Given the description of an element on the screen output the (x, y) to click on. 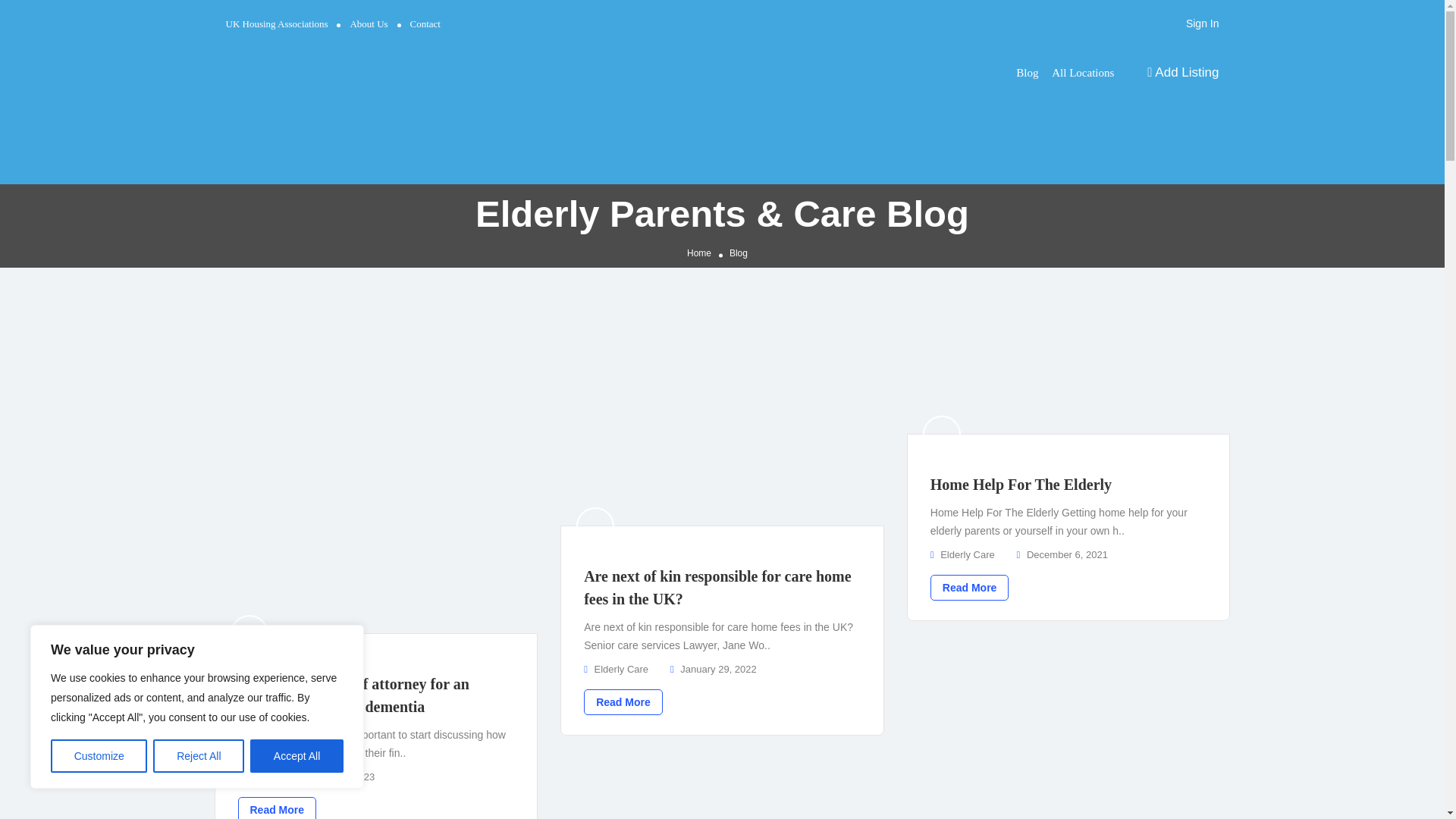
Reject All (198, 756)
Customize (98, 756)
Read More (277, 807)
Add Listing (1182, 72)
All Locations (1082, 72)
UK Housing Associations (277, 23)
Home (699, 253)
Are next of kin responsible for care home fees in the UK? (716, 587)
About Us (368, 23)
Blog (1027, 72)
Legal (259, 776)
Accept All (296, 756)
Contact (425, 23)
Elderly Care (621, 668)
